Given the description of an element on the screen output the (x, y) to click on. 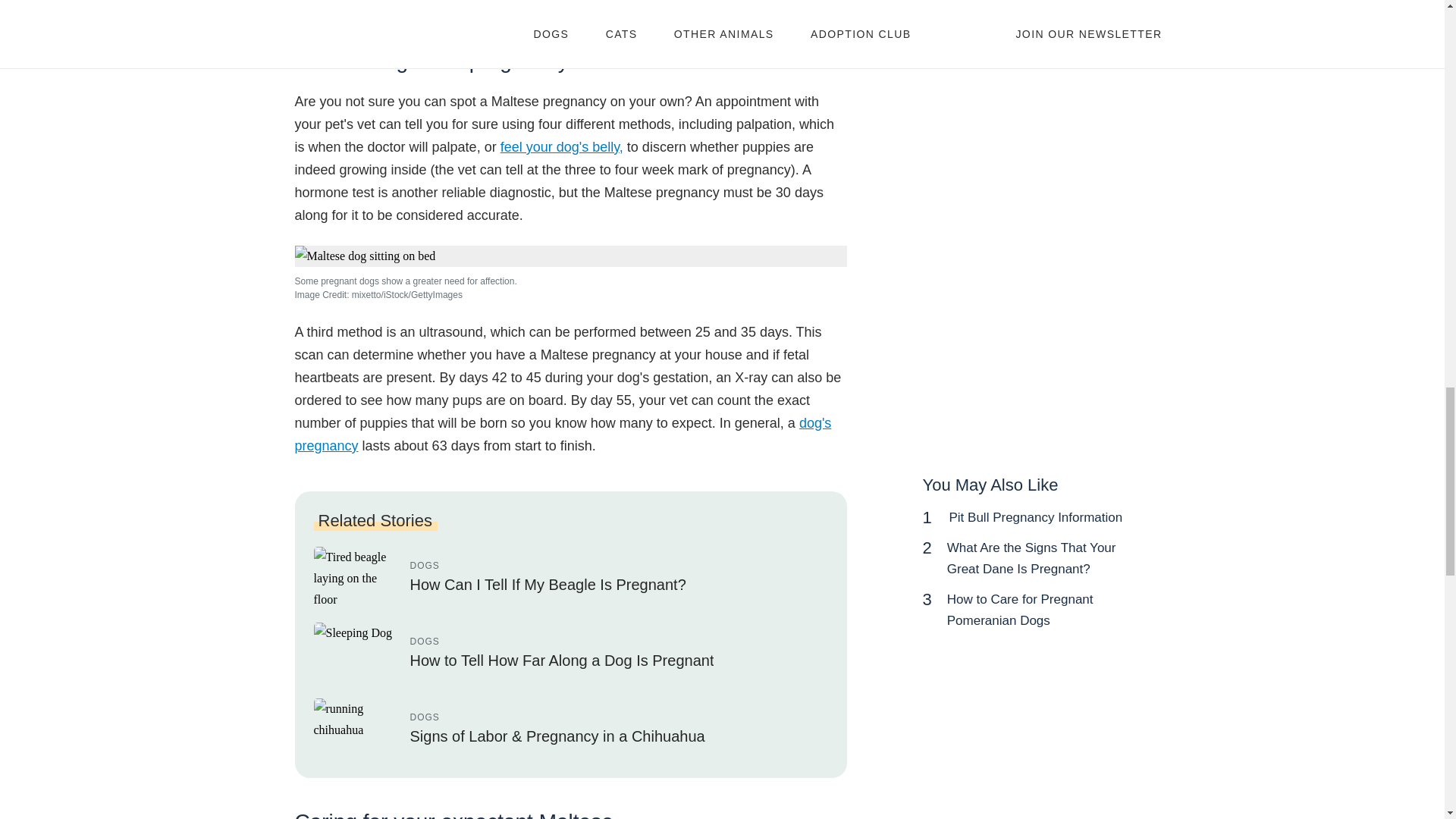
Pit Bull Pregnancy Information (1035, 517)
How to Care for Pregnant Pomeranian Dogs (1020, 610)
What Are the Signs That Your Great Dane Is Pregnant? (1031, 558)
